Given the description of an element on the screen output the (x, y) to click on. 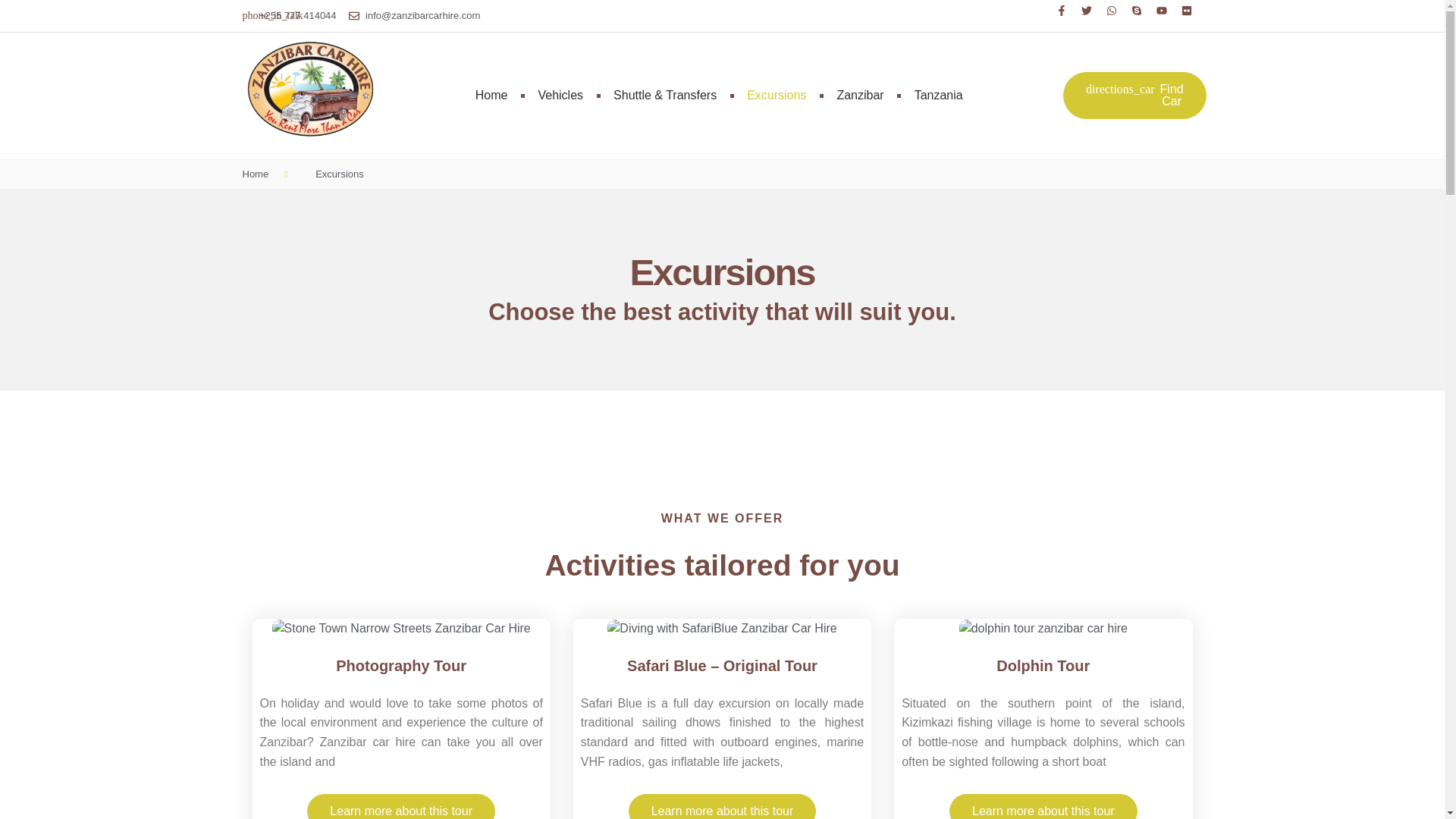
Excursions (776, 95)
Vehicles (560, 95)
Stone Town Narrow Streets Zanzibar Car Hire (401, 628)
Zanzibar (859, 95)
Tanzania (938, 95)
safari-blue-min (721, 628)
dolphin-min (1042, 628)
